Given the description of an element on the screen output the (x, y) to click on. 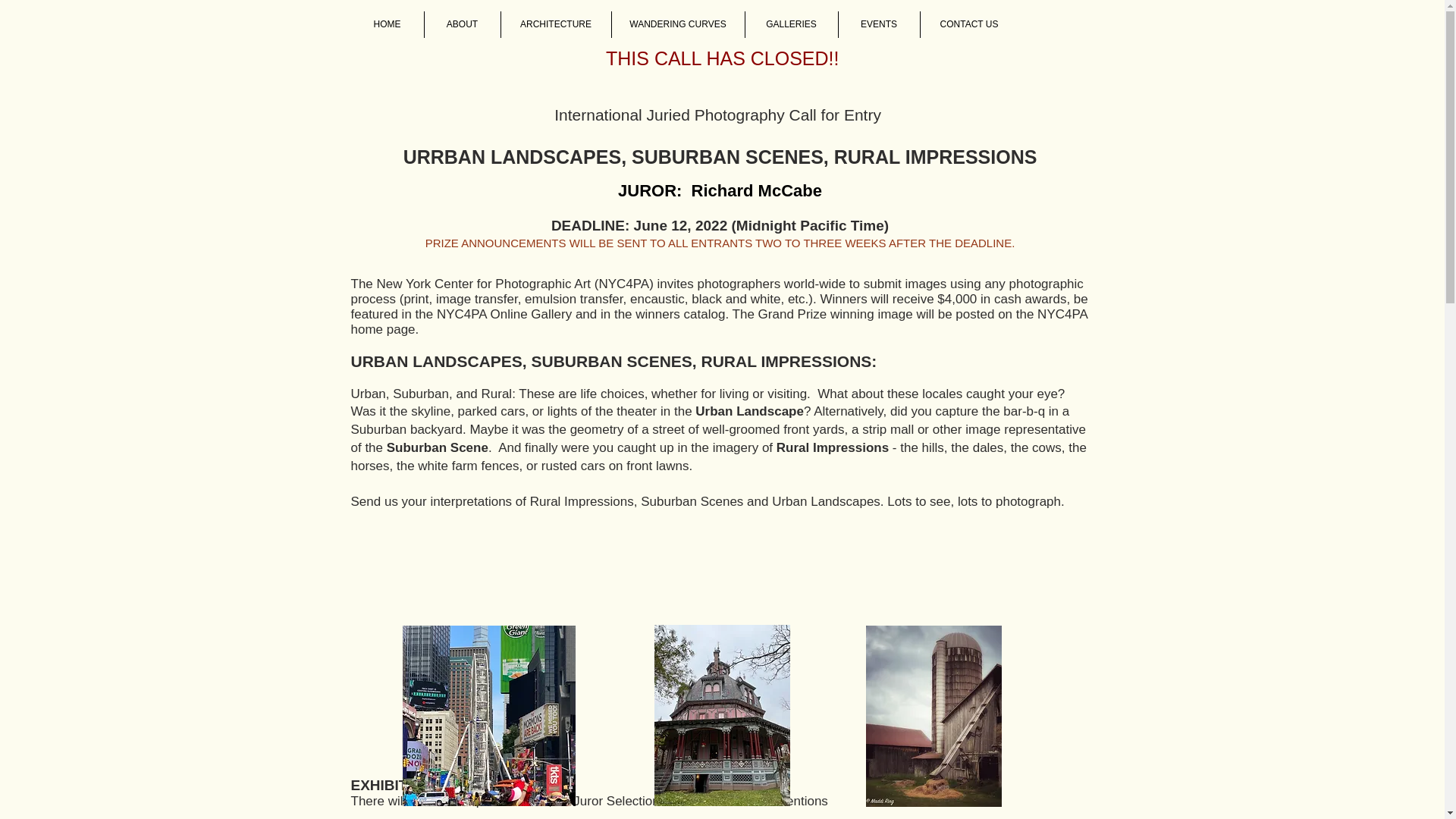
CONTACT US (967, 24)
HOME (386, 24)
ARCHITECTURE (555, 24)
WANDERING CURVES (677, 24)
ABOUT (461, 24)
